Given the description of an element on the screen output the (x, y) to click on. 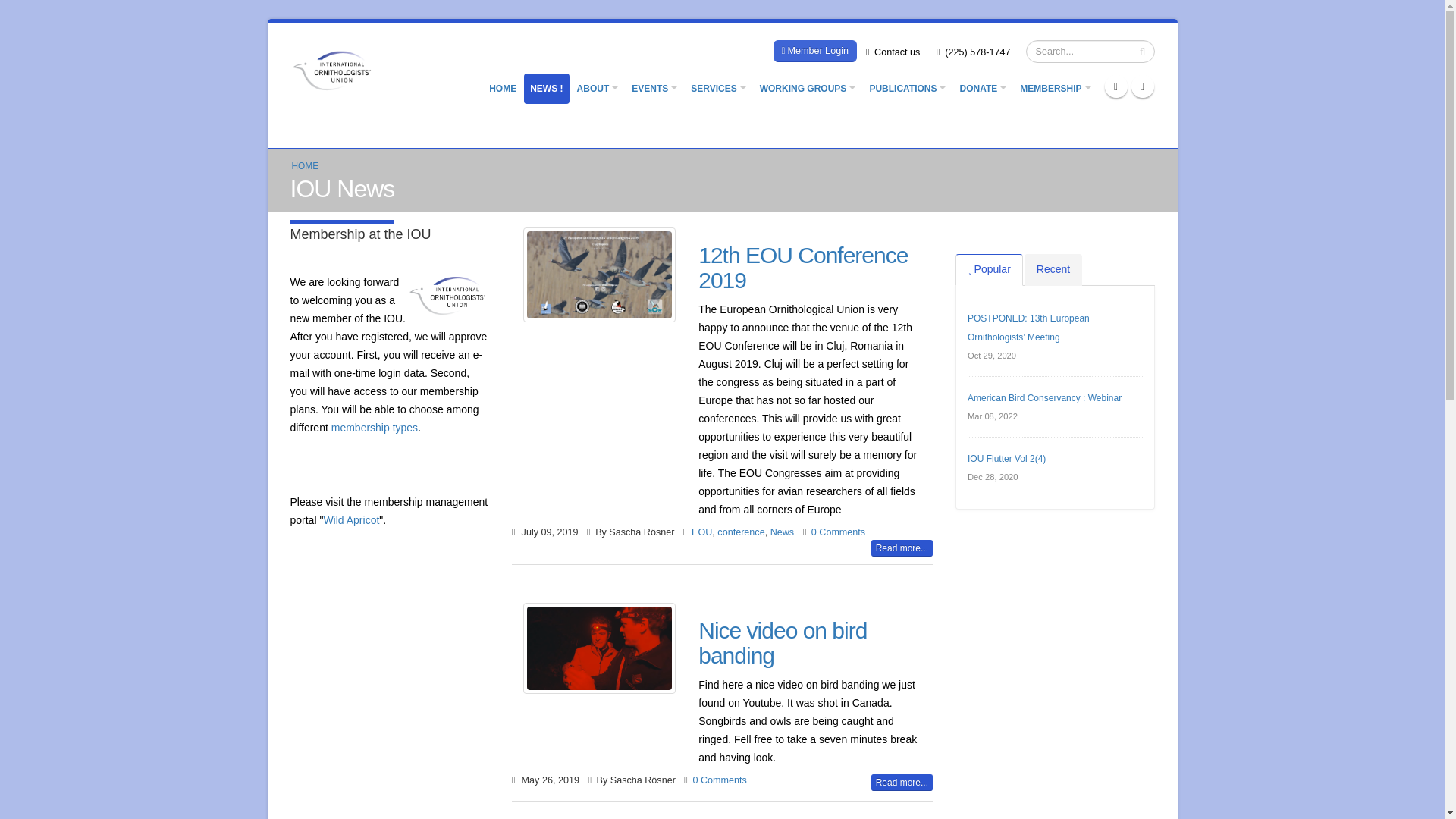
Facebook (1115, 86)
Home (337, 69)
Meetings, conferences and more ... (654, 88)
Member Login (815, 51)
NEWS ! (546, 88)
ABOUT (597, 88)
Enter the terms you wish to search for. (1089, 51)
WORKING GROUPS (807, 88)
HOME (502, 88)
EVENTS (654, 88)
Contact us (893, 52)
Twitter (1142, 86)
SERVICES (717, 88)
